Given the description of an element on the screen output the (x, y) to click on. 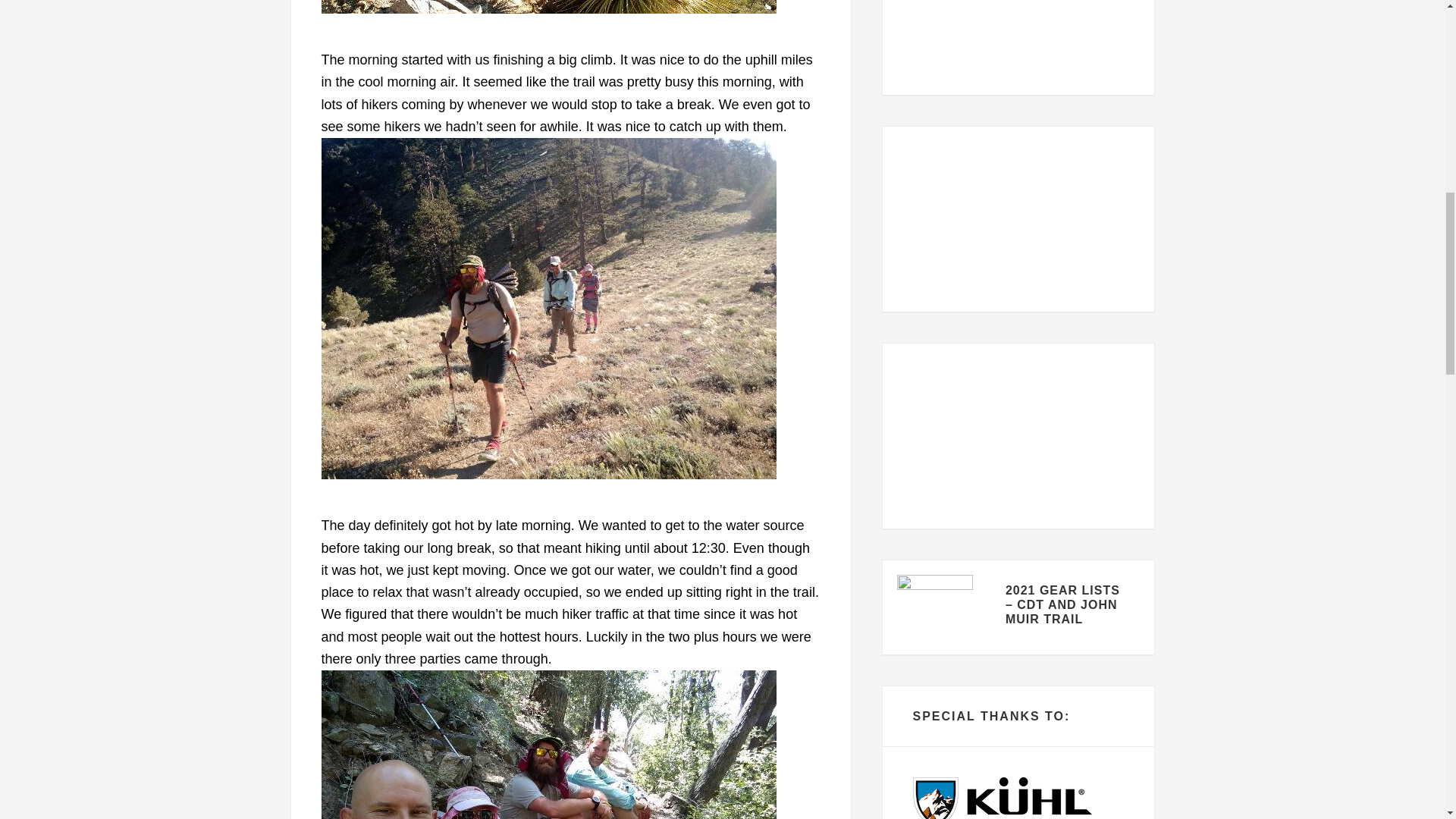
wp-1465950315417 (548, 744)
wp-1465950223746 (548, 6)
